Given the description of an element on the screen output the (x, y) to click on. 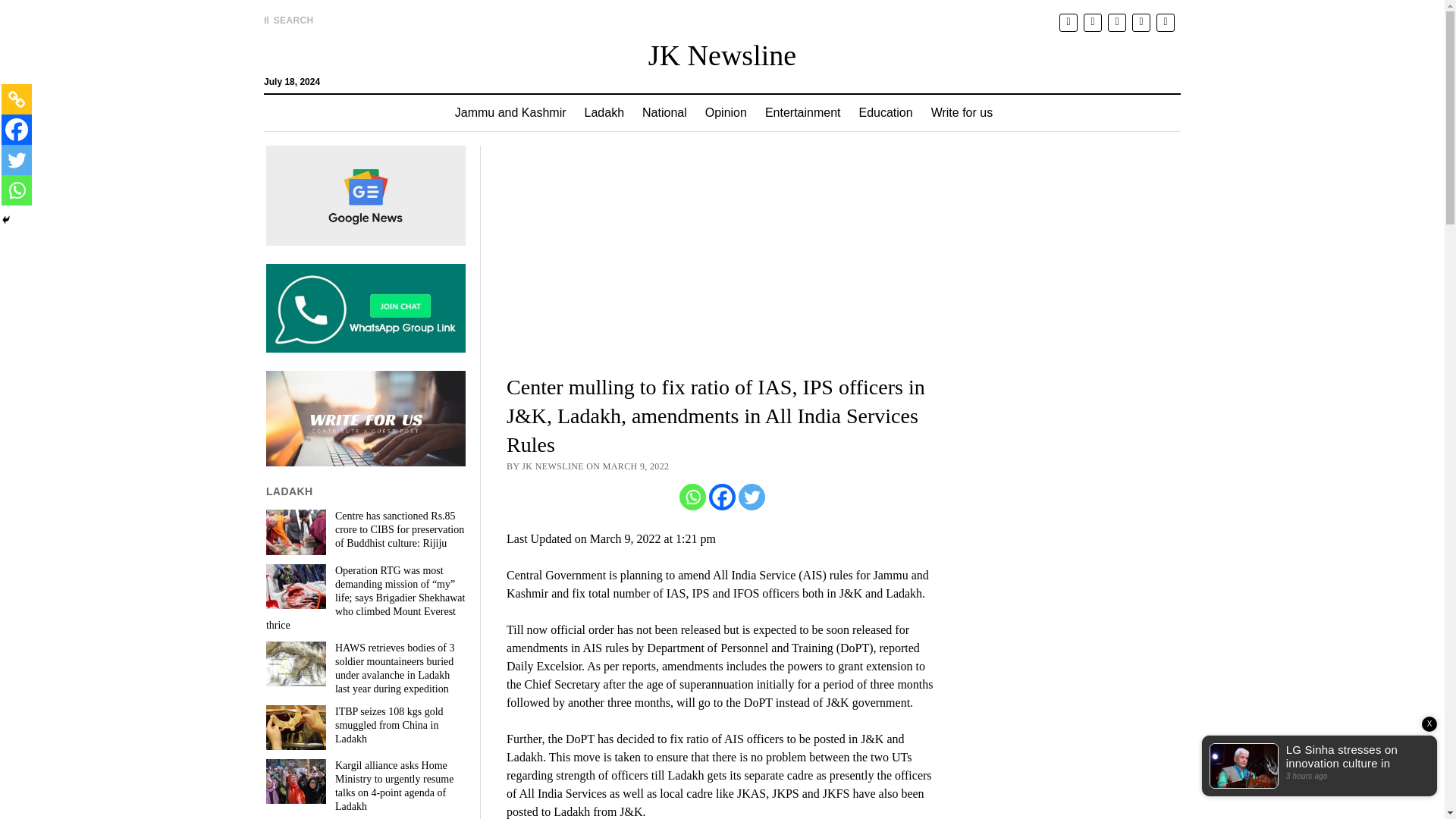
Search (945, 129)
Entertainment (802, 113)
Education (884, 113)
National (664, 113)
ITBP seizes 108 kgs gold smuggled from China in Ladakh (365, 725)
Ladakh (604, 113)
Hide (5, 219)
Facebook (16, 129)
Advertisement (722, 257)
Facebook (722, 497)
JK Newsline (721, 55)
Jammu and Kashmir (510, 113)
Whatsapp (692, 497)
